Given the description of an element on the screen output the (x, y) to click on. 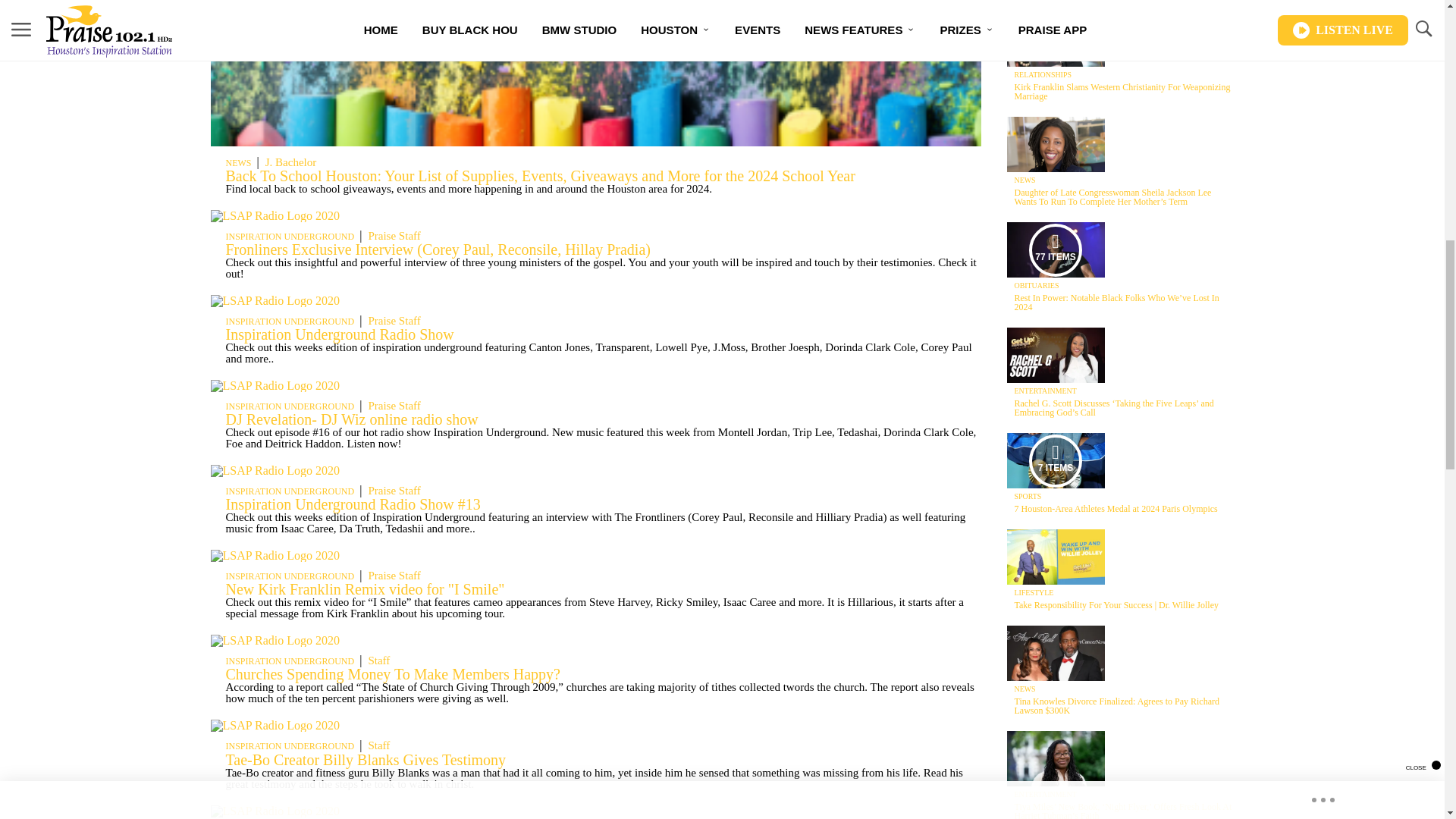
J. Bachelor (290, 162)
Media Playlist (1055, 460)
NEWS (238, 163)
Media Playlist (1055, 249)
